Given the description of an element on the screen output the (x, y) to click on. 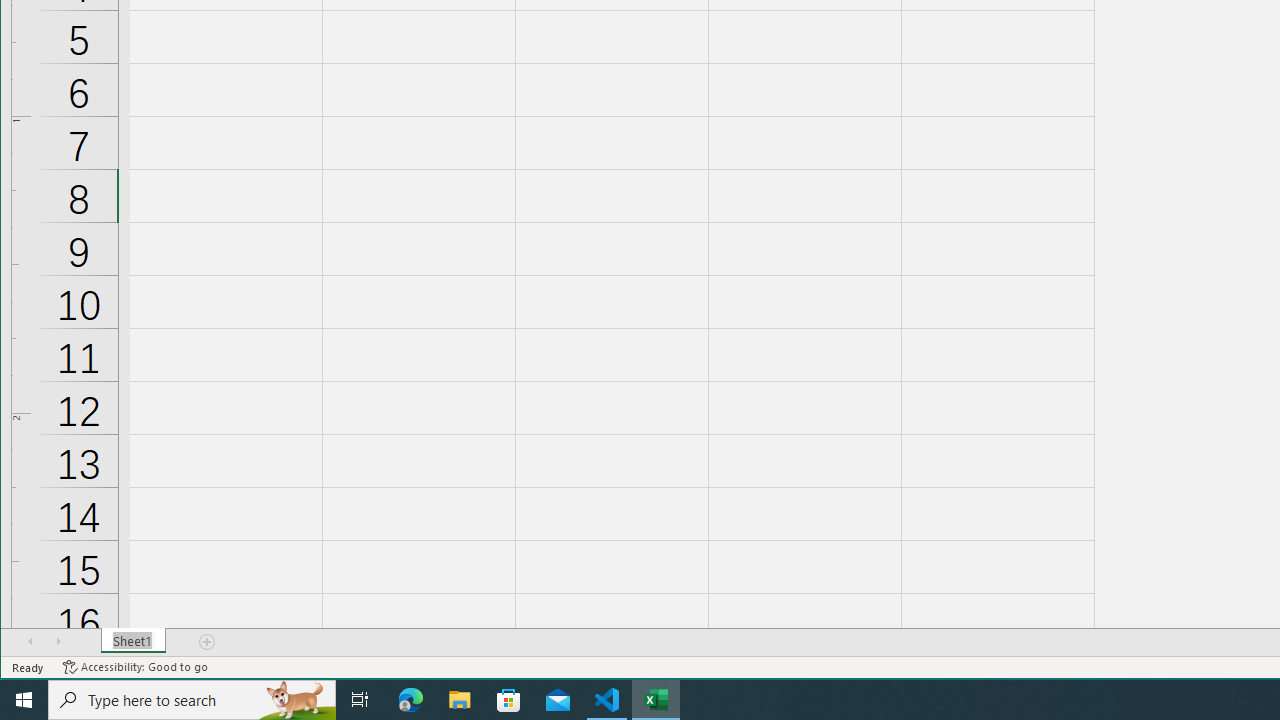
Excel - 1 running window (656, 699)
Type here to search (191, 699)
Visual Studio Code - 1 running window (607, 699)
Start (24, 699)
Microsoft Store (509, 699)
Search highlights icon opens search home window (295, 699)
File Explorer (460, 699)
Task View (359, 699)
Microsoft Edge (411, 699)
